Given the description of an element on the screen output the (x, y) to click on. 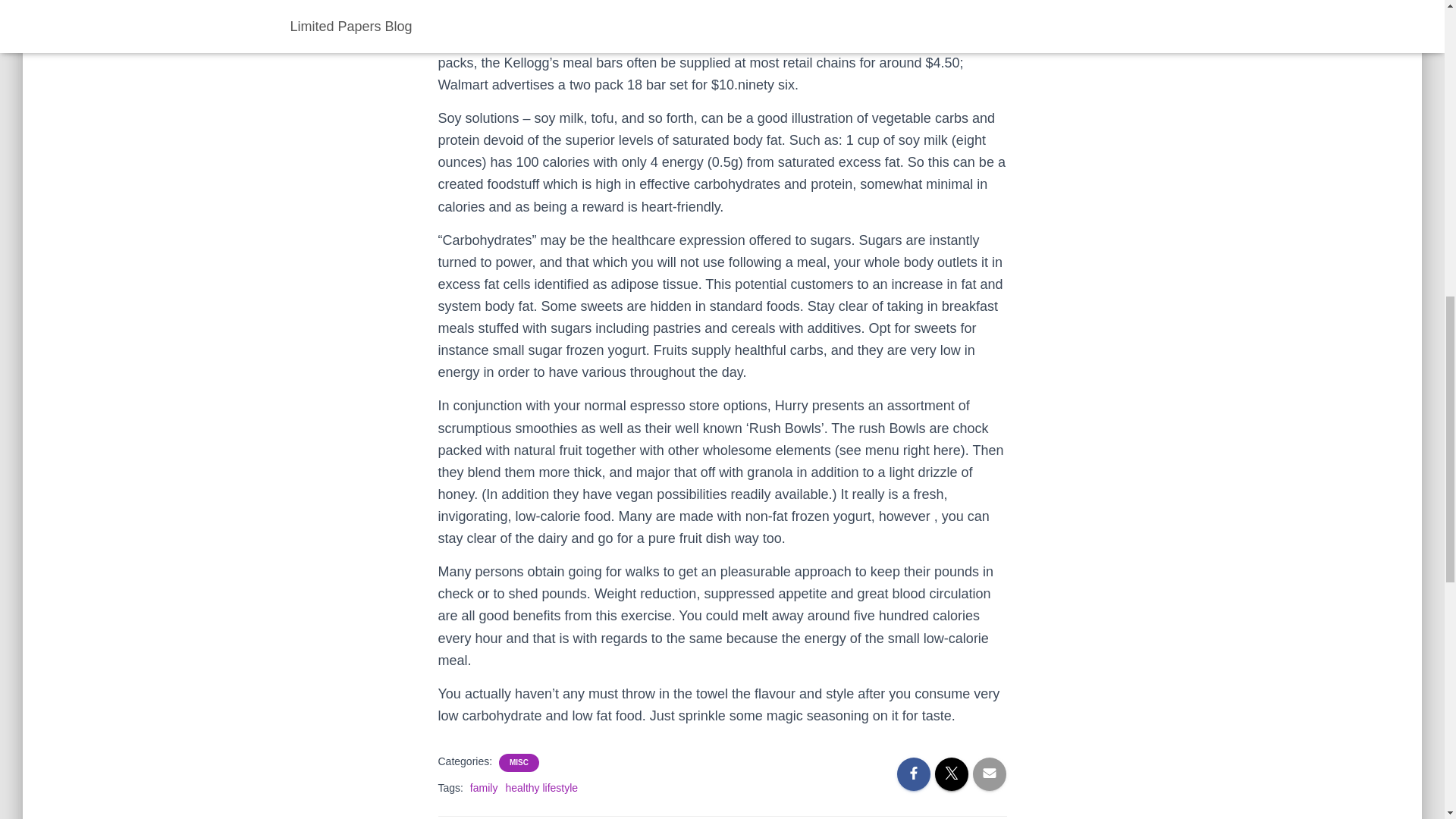
family (483, 787)
healthy lifestyle (541, 787)
MISC (518, 762)
